Given the description of an element on the screen output the (x, y) to click on. 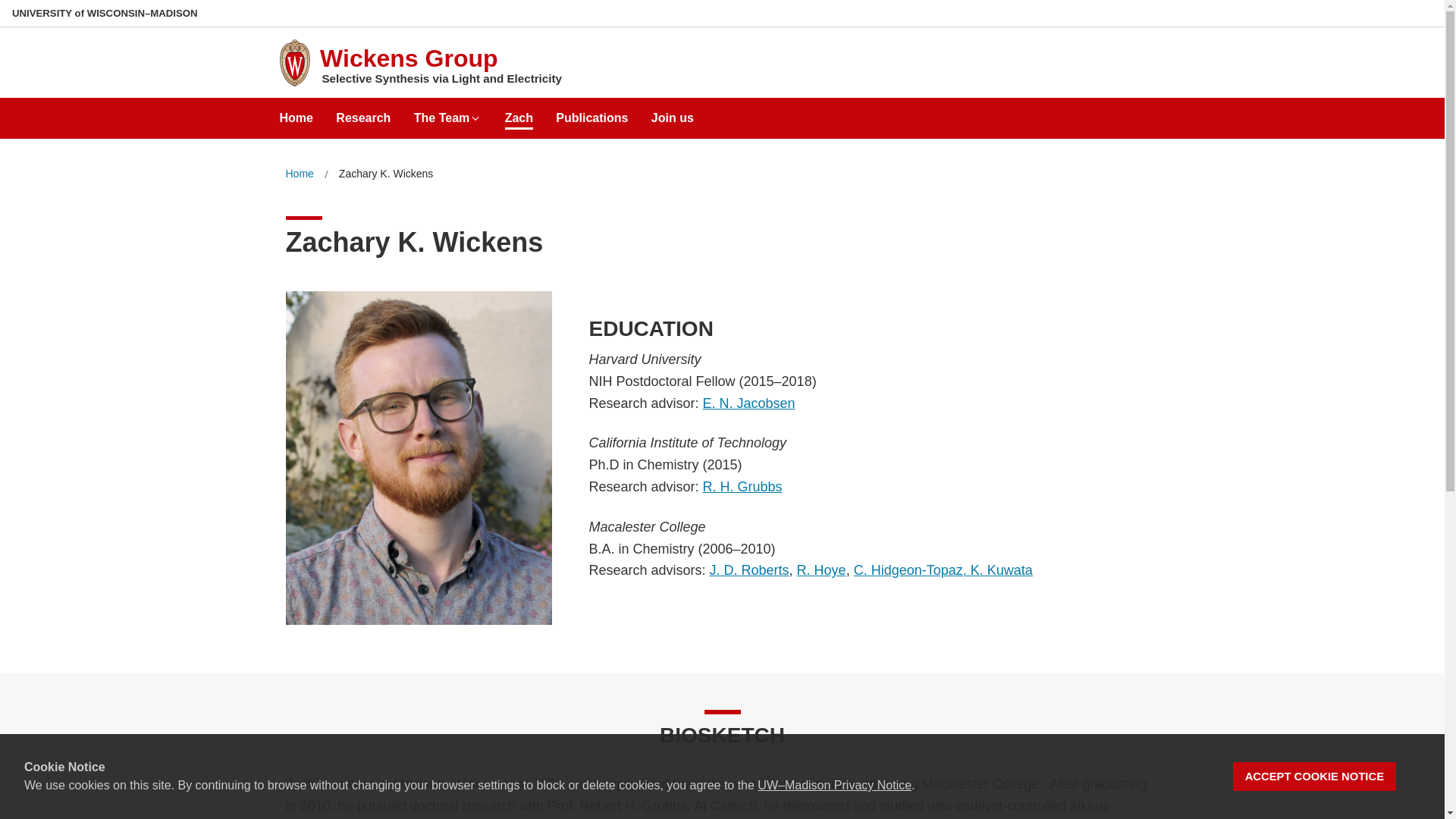
E. N. Jacobsen (748, 403)
Research (363, 112)
Home (299, 173)
Zachary K. Wickens (385, 173)
R. H. Grubbs (743, 486)
C. Hidgeon-Topaz, (912, 570)
Home (296, 112)
Home (299, 173)
Zachary K. Wickens (385, 173)
Join us (672, 112)
K. Kuwata (1001, 570)
Expand (474, 118)
Wickens Group (408, 58)
ACCEPT COOKIE NOTICE (1314, 776)
Zach (518, 112)
